Given the description of an element on the screen output the (x, y) to click on. 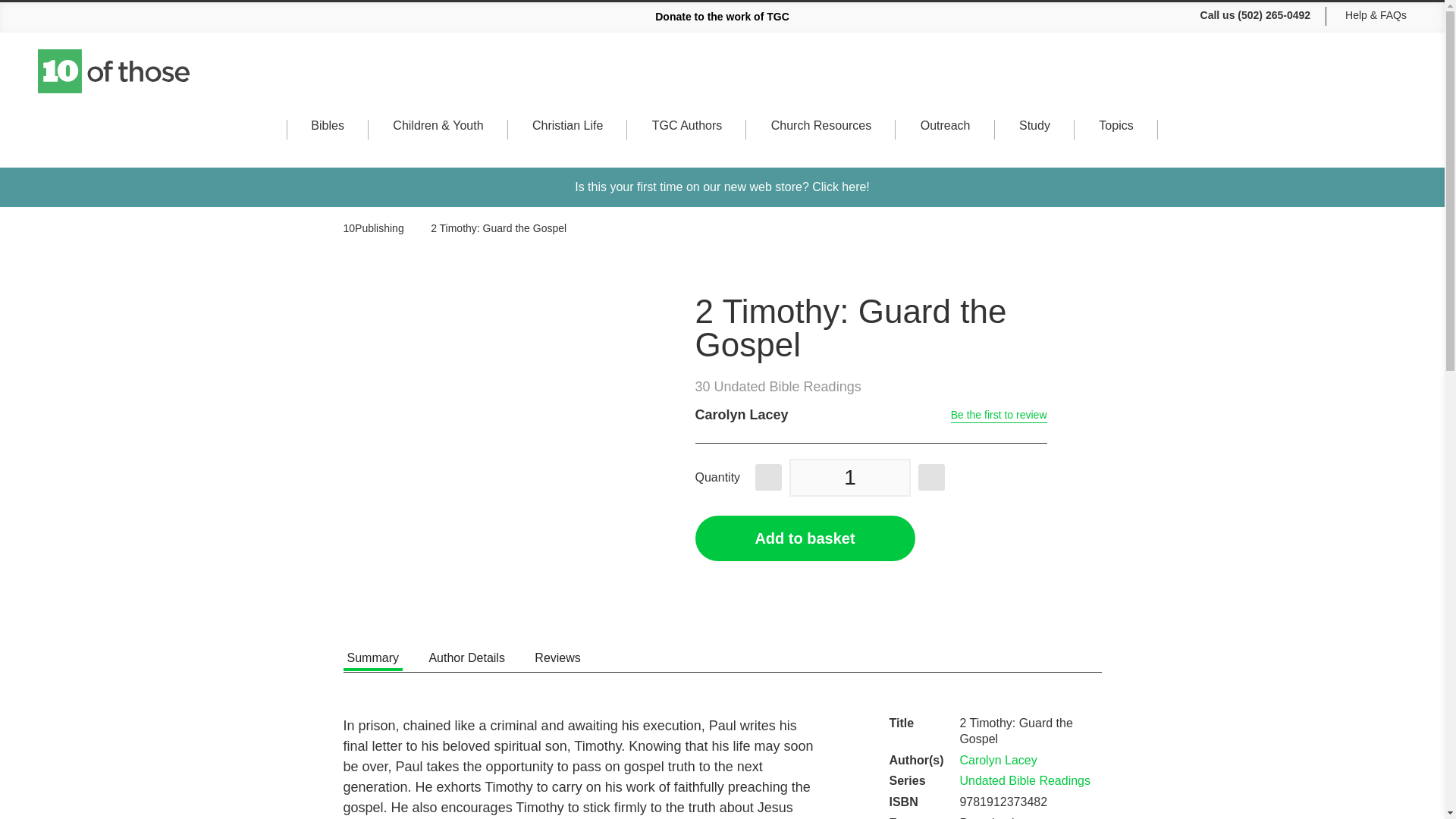
Christian Life (567, 140)
10 of those (114, 71)
Favourites (1379, 78)
Donate to the work of TGC (722, 16)
1 (850, 477)
